Given the description of an element on the screen output the (x, y) to click on. 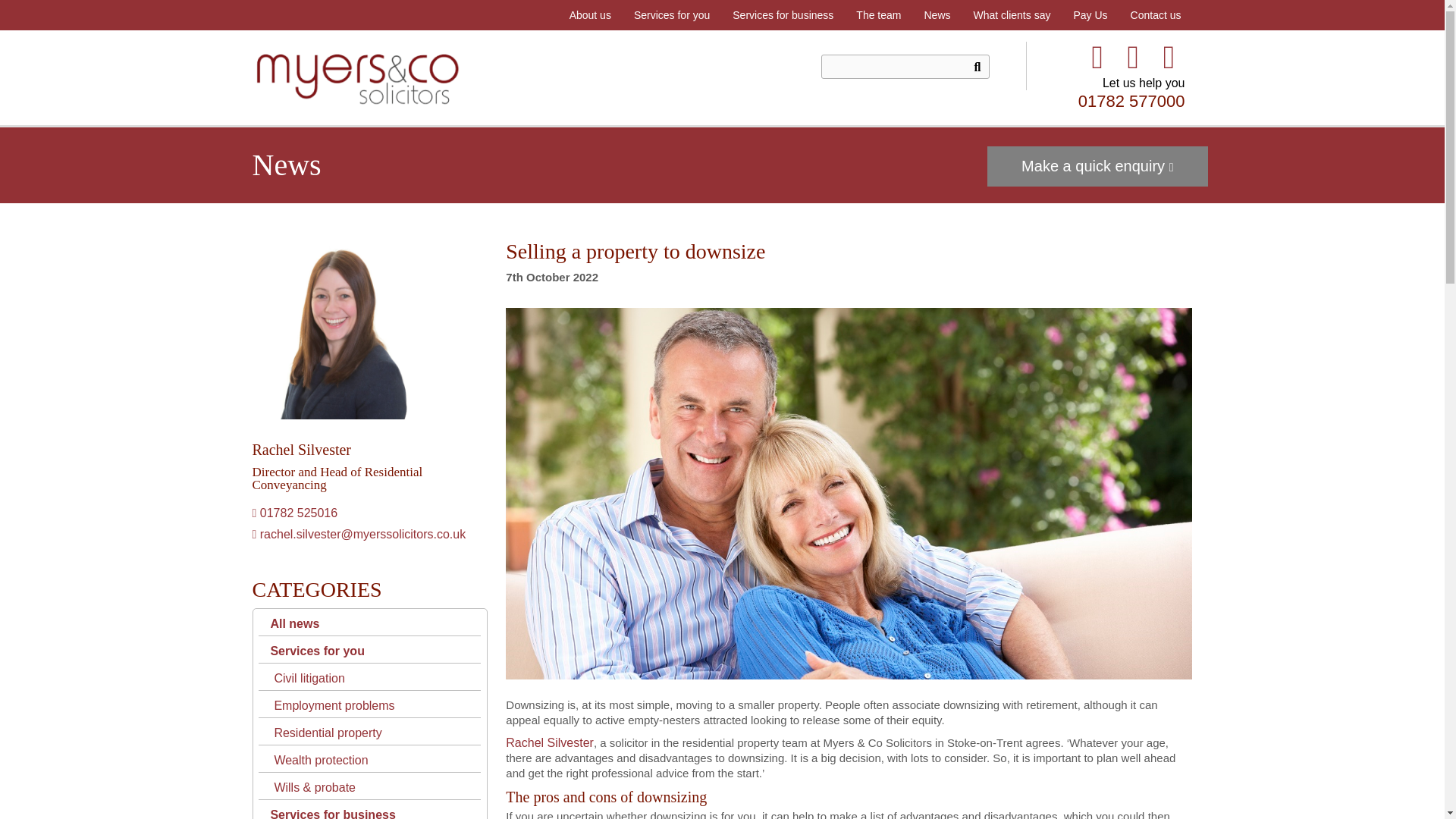
Services for you (671, 15)
Services for business (782, 15)
Pay Us (1089, 15)
About us (590, 15)
What clients say (1010, 15)
The team (878, 15)
Contact us (1155, 15)
01782 577000 (1131, 100)
News (936, 15)
